Given the description of an element on the screen output the (x, y) to click on. 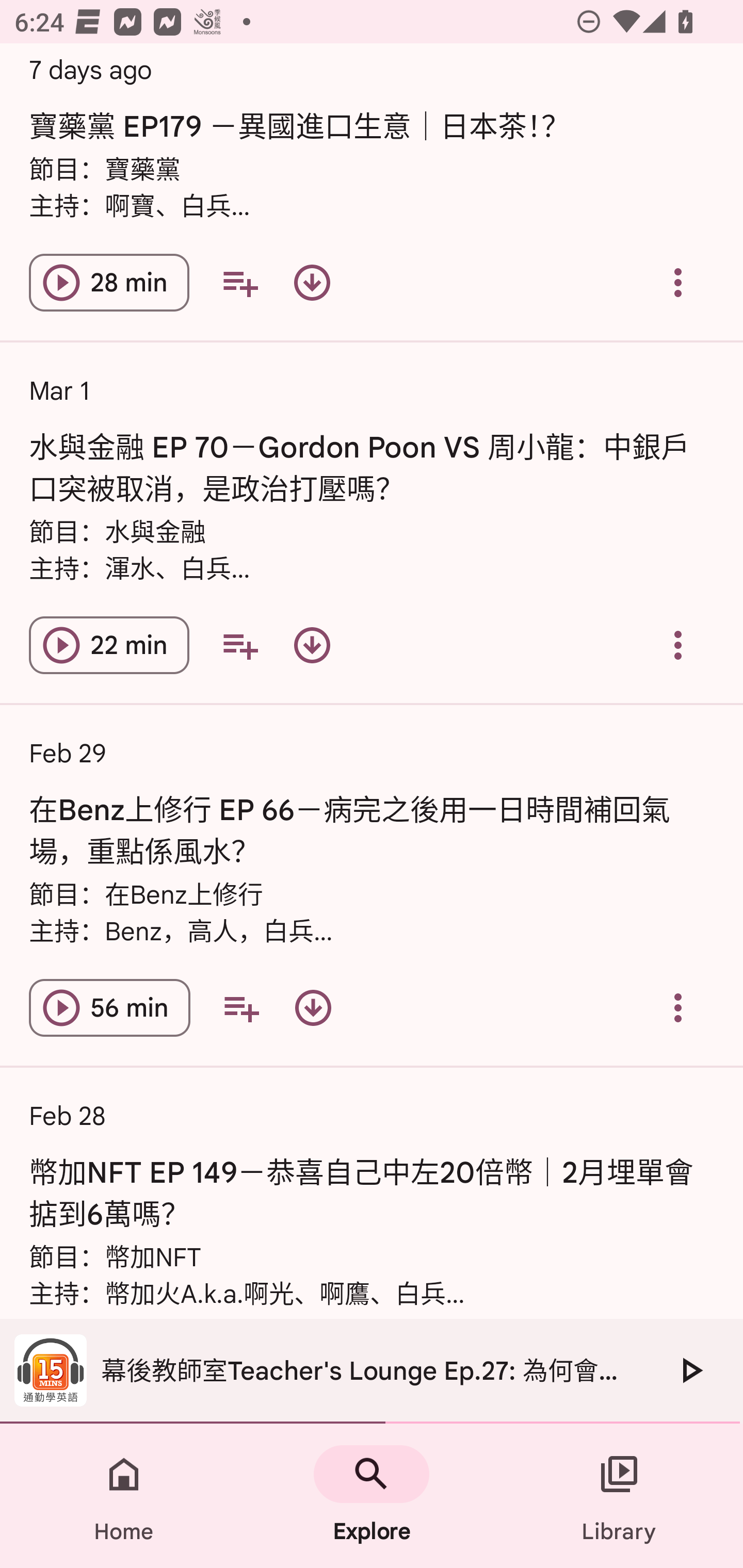
Play episode 寶藥黨 EP179 －異國進口生意｜日本茶！？ 28 min (108, 282)
Add to your queue (239, 282)
Download episode (312, 282)
Overflow menu (677, 282)
Add to your queue (239, 645)
Download episode (312, 645)
Overflow menu (677, 645)
Add to your queue (241, 1007)
Download episode (313, 1007)
Overflow menu (677, 1007)
Play (690, 1370)
Home (123, 1495)
Library (619, 1495)
